Given the description of an element on the screen output the (x, y) to click on. 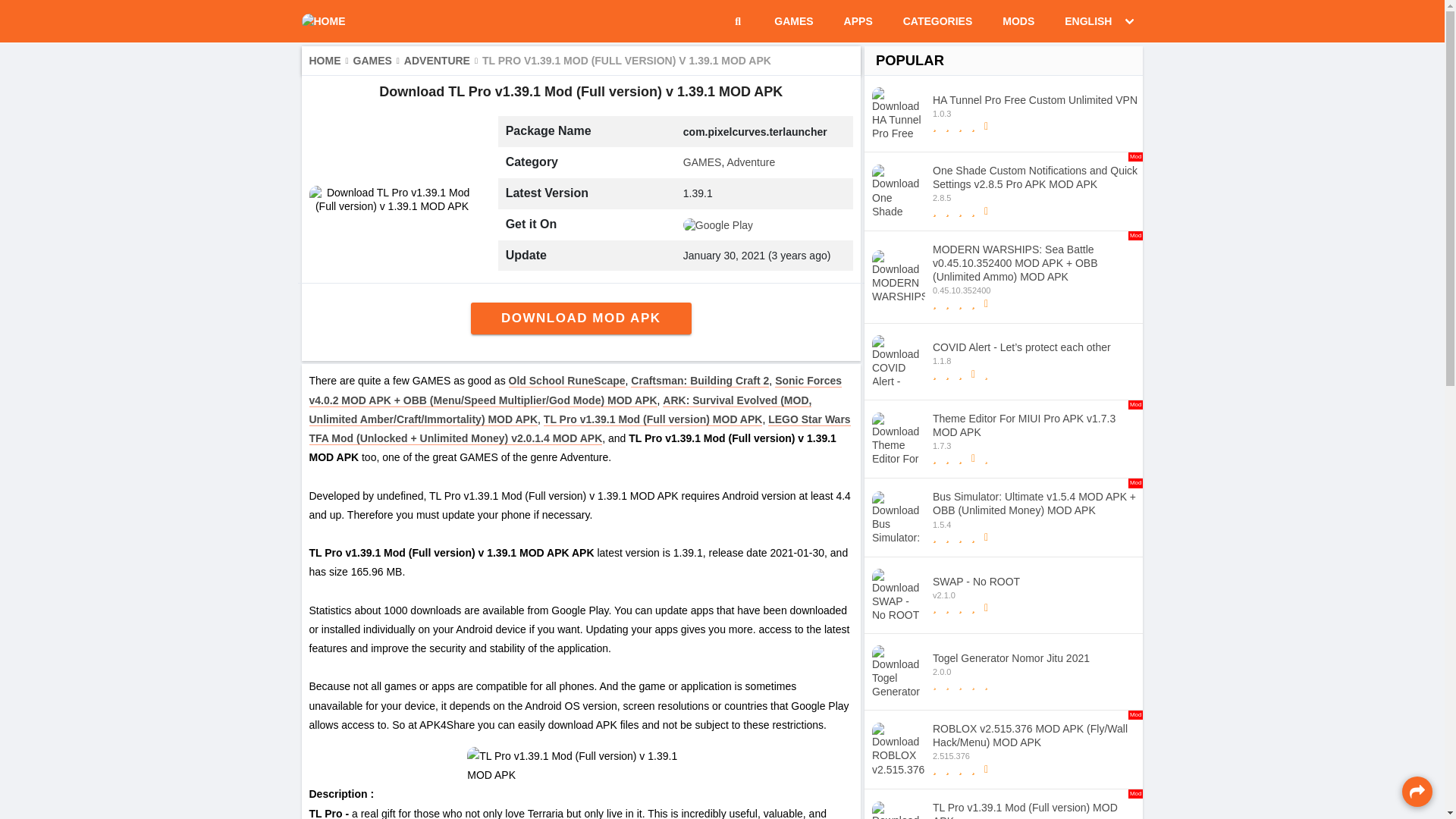
MODS (1018, 21)
Old School RuneScape (567, 380)
DOWNLOAD MOD APK (580, 318)
GAMES (378, 60)
Search apks (737, 21)
Adventure (750, 162)
APPS (858, 21)
GAMES (1003, 114)
Adventure (793, 21)
Home (442, 60)
Craftsman: Building Craft 2 (1003, 595)
CATEGORIES (330, 60)
